Given the description of an element on the screen output the (x, y) to click on. 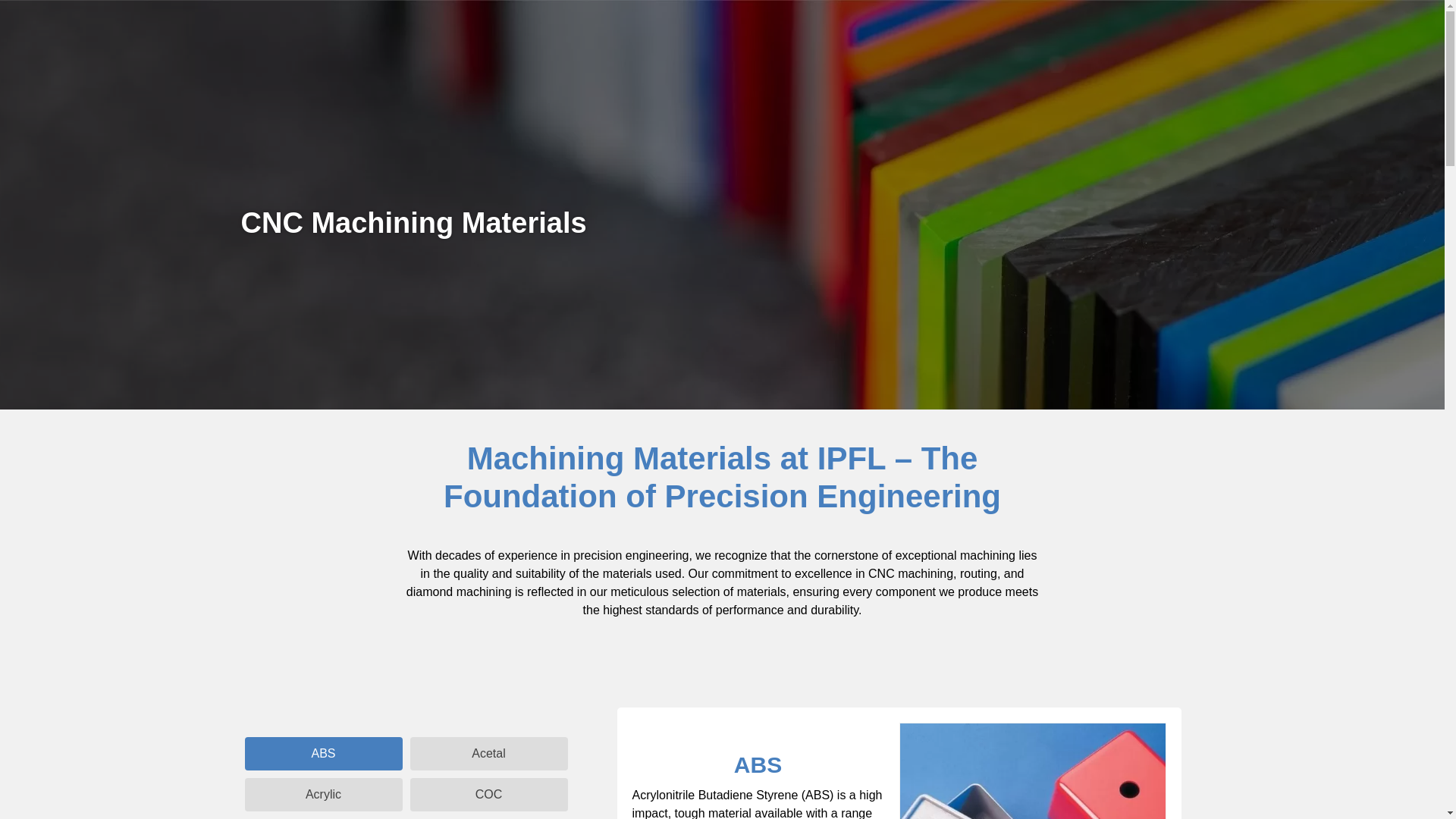
Plastic Fabrication (628, 36)
3D Printing (734, 36)
Plastic Component Industries (865, 36)
About (985, 36)
Plastic Machining (506, 36)
